Given the description of an element on the screen output the (x, y) to click on. 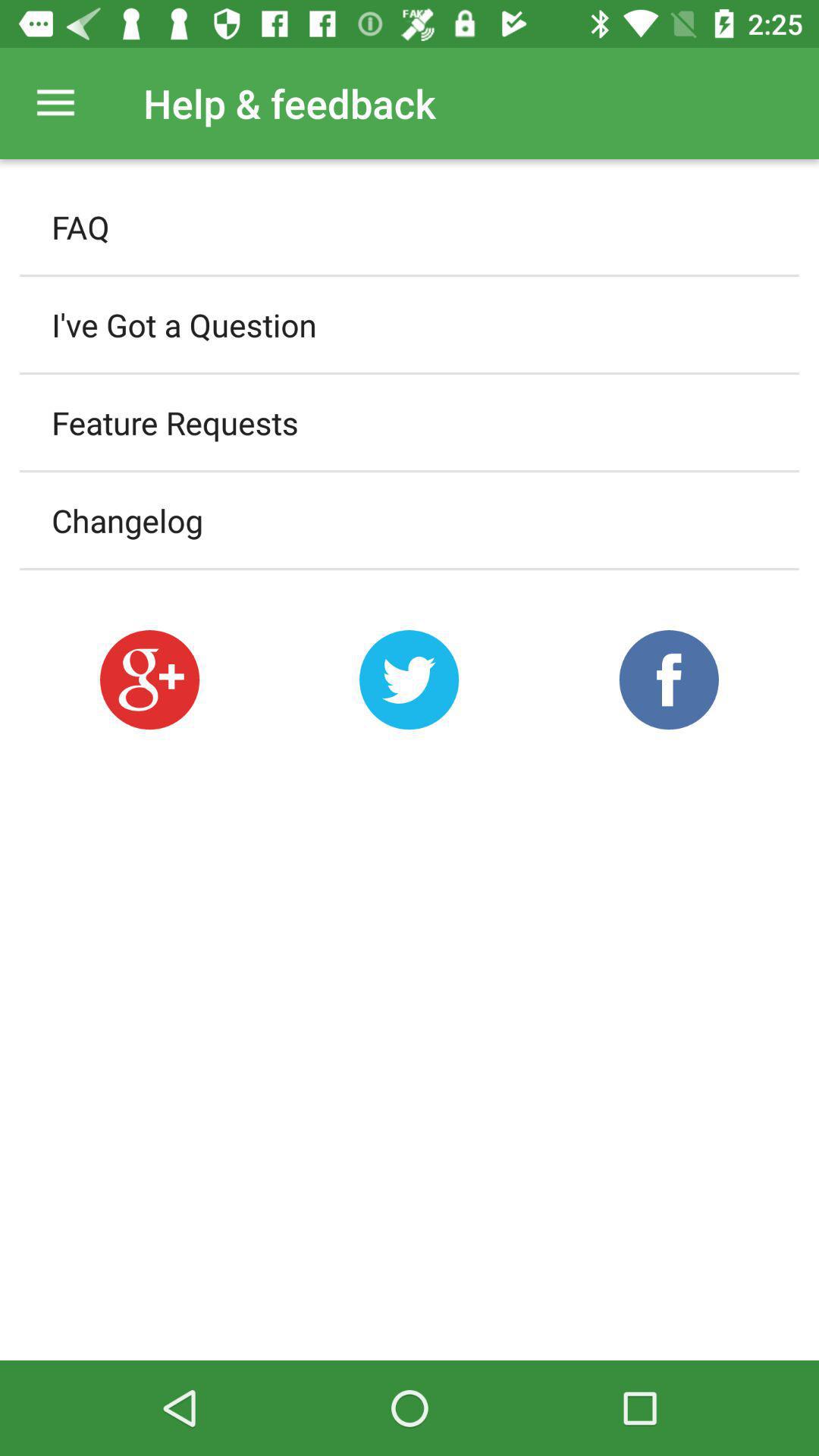
flip until i ve got item (409, 324)
